Given the description of an element on the screen output the (x, y) to click on. 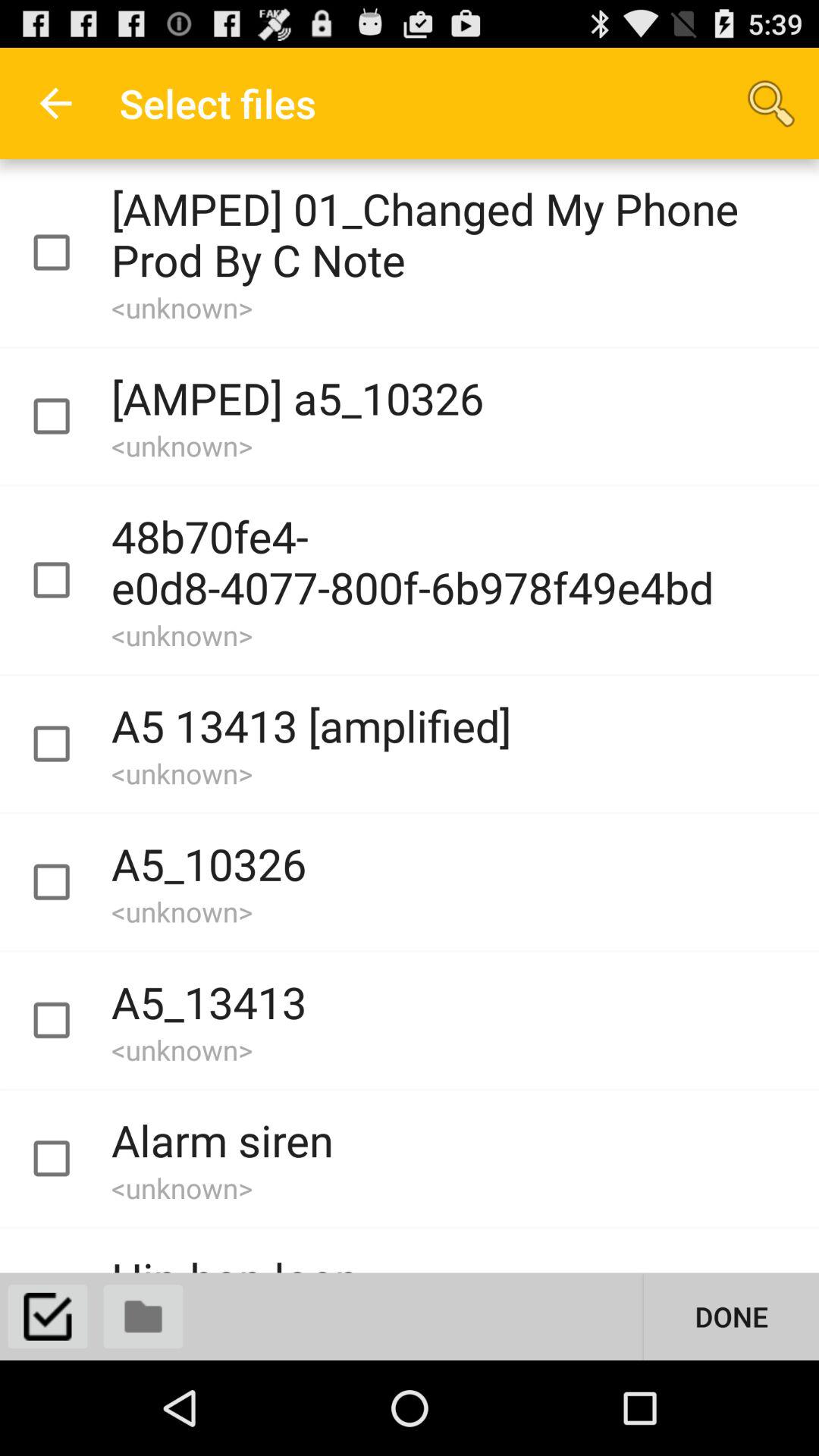
select all the file (47, 1316)
